Given the description of an element on the screen output the (x, y) to click on. 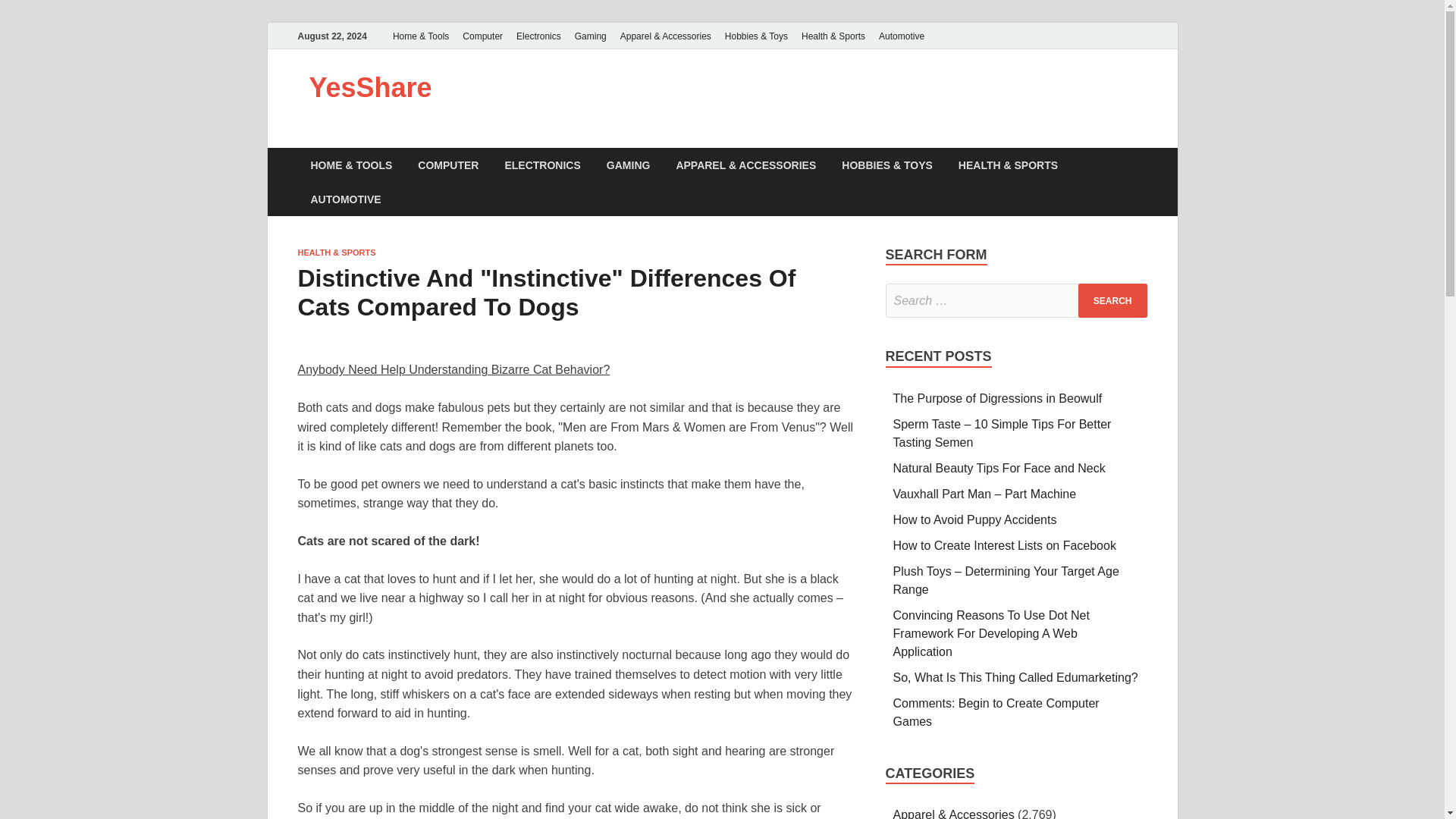
Computer (482, 35)
Gaming (589, 35)
Automotive (901, 35)
ELECTRONICS (542, 164)
AUTOMOTIVE (345, 198)
COMPUTER (448, 164)
Search (1112, 300)
Search (1112, 300)
Electronics (538, 35)
GAMING (628, 164)
